Given the description of an element on the screen output the (x, y) to click on. 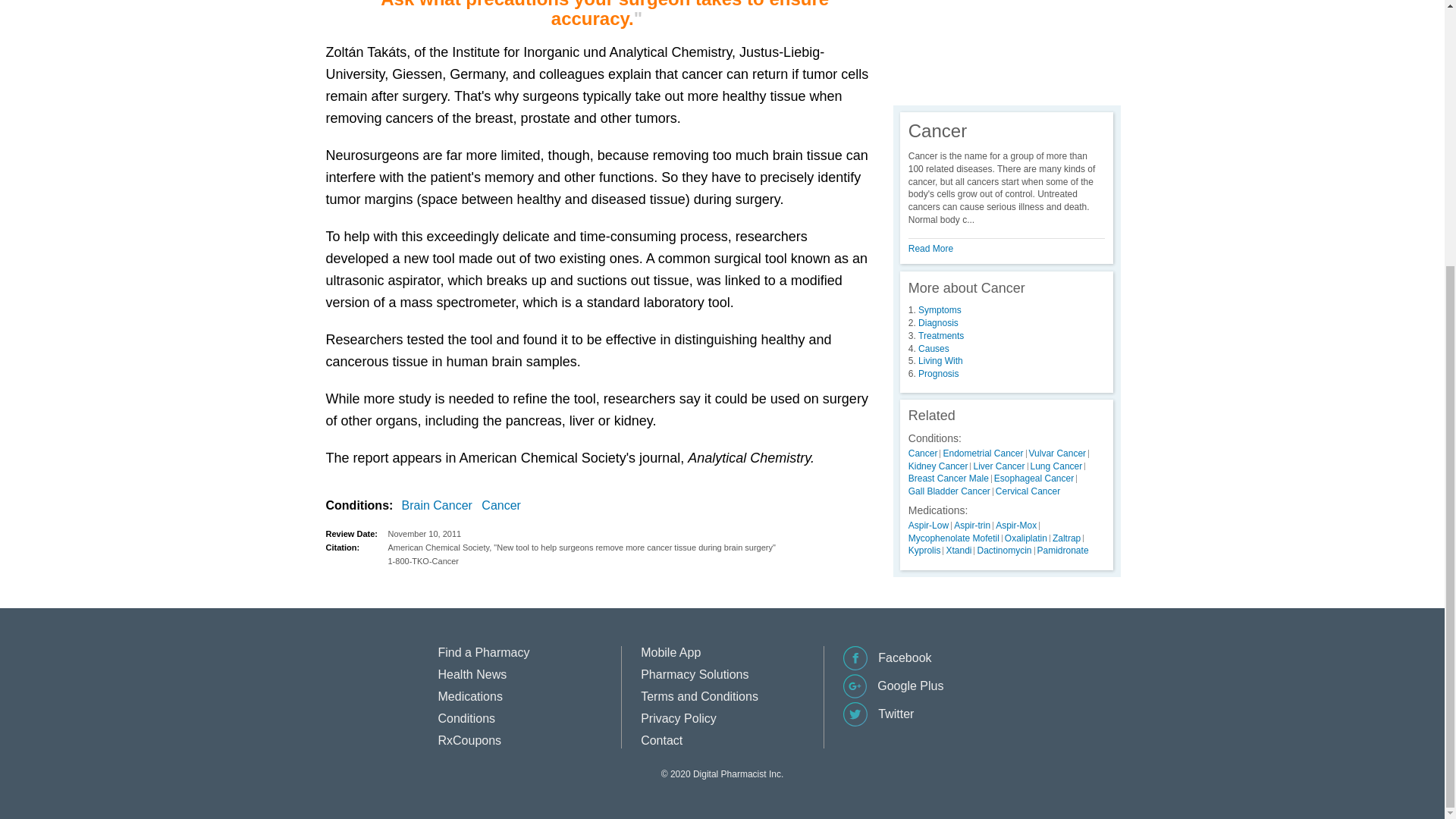
Cancer (504, 505)
1-800-TKO-Cancer (630, 561)
Symptoms (939, 309)
Read More (930, 248)
Brain Cancer (440, 505)
